Given the description of an element on the screen output the (x, y) to click on. 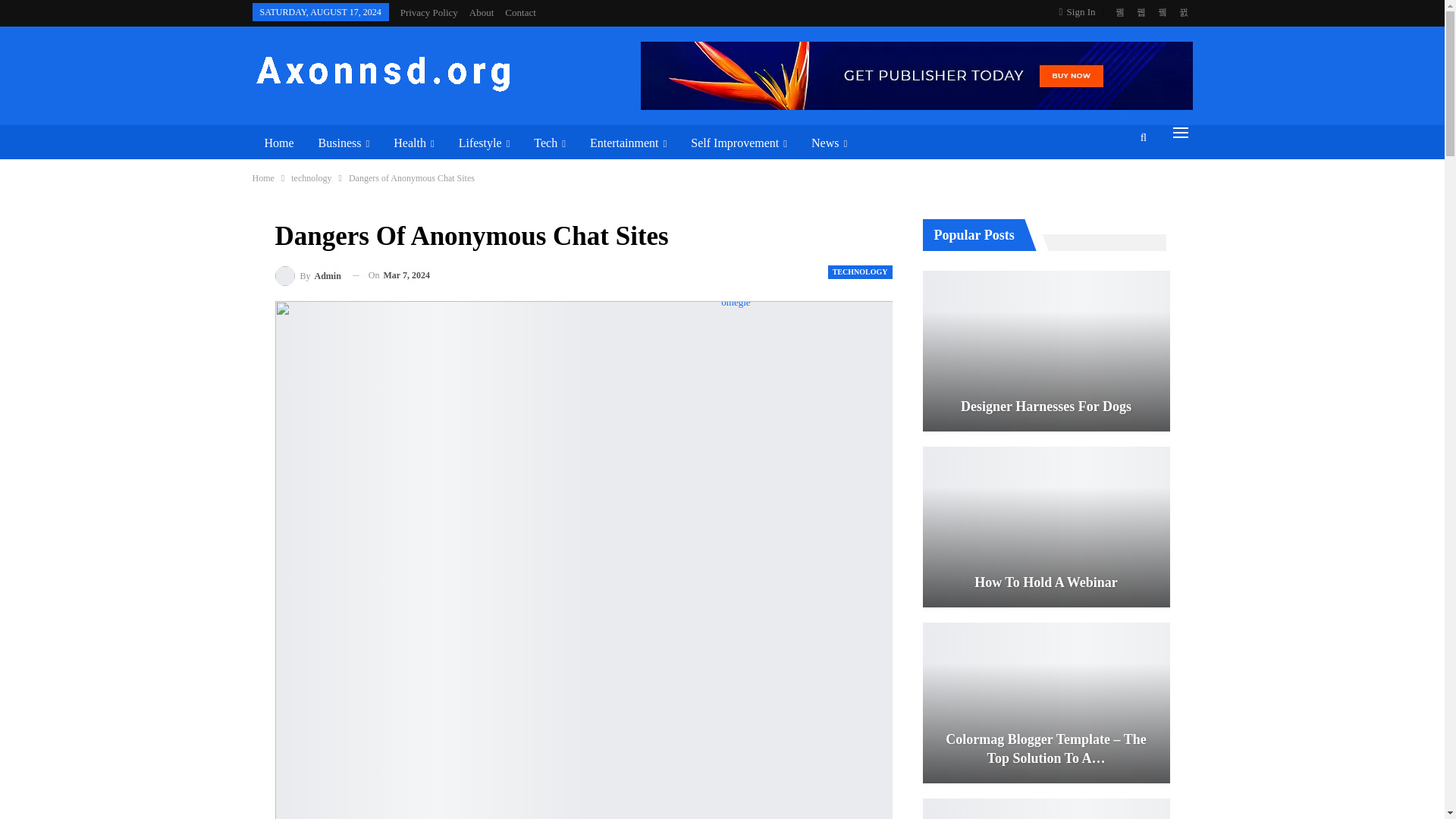
Tech (549, 143)
Lifestyle (484, 143)
Sign In (1080, 12)
Home (278, 143)
Health (413, 143)
Business (343, 143)
Privacy Policy (429, 12)
About (481, 12)
Browse Author Articles (307, 275)
Contact (520, 12)
